Given the description of an element on the screen output the (x, y) to click on. 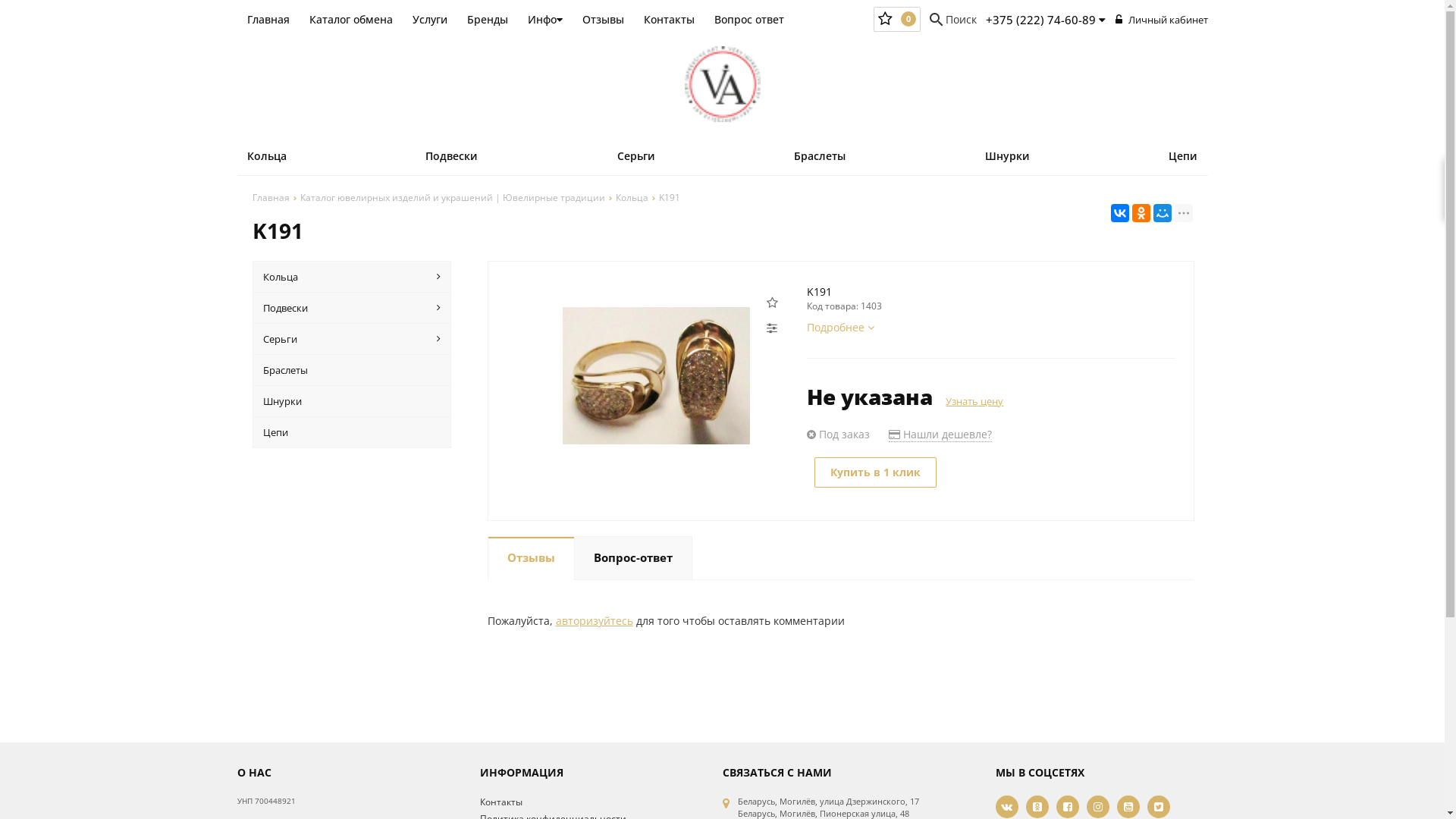
0 Element type: text (896, 18)
+375 (222) 74-60-89 Element type: text (1045, 19)
